Given the description of an element on the screen output the (x, y) to click on. 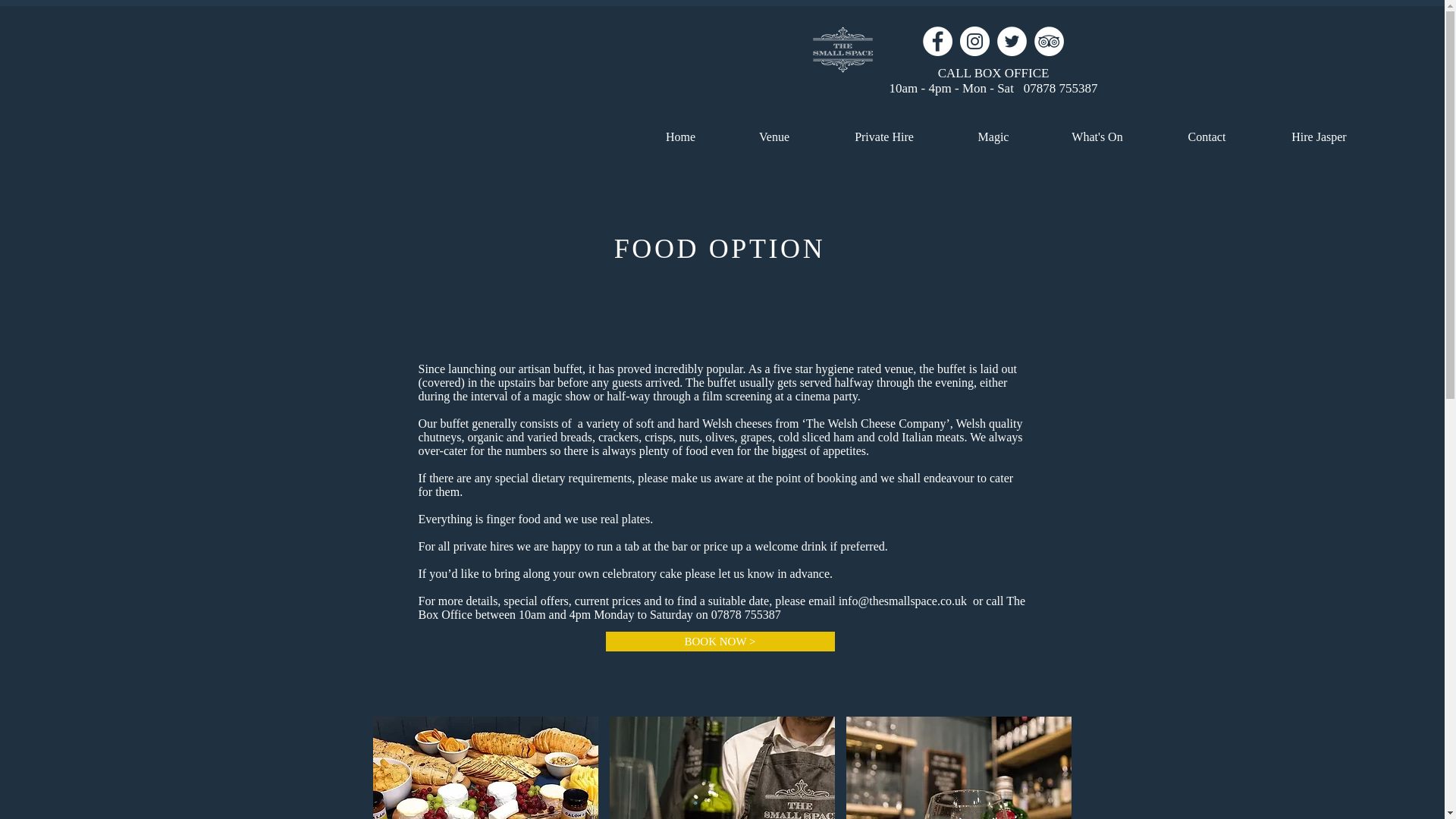
Contact (1206, 130)
Home (679, 130)
Private Hire (884, 130)
Hire Jasper (1318, 130)
What's On (1096, 130)
Magic (993, 130)
Venue (773, 130)
